Given the description of an element on the screen output the (x, y) to click on. 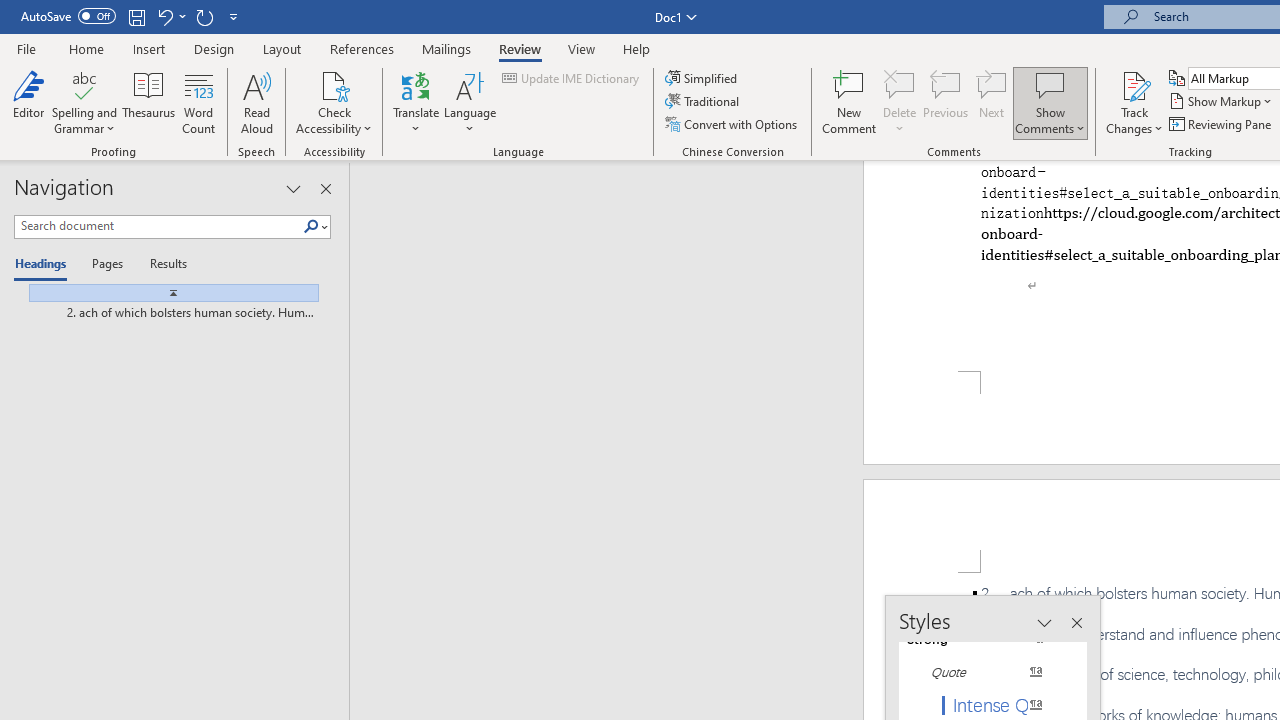
Convert with Options... (732, 124)
Headings (45, 264)
Save (136, 15)
System (10, 11)
System (10, 11)
Translate (415, 102)
Reviewing Pane (1221, 124)
Read Aloud (256, 102)
Show Comments (1050, 84)
AutoSave (68, 16)
Editor (28, 102)
Review (520, 48)
Search (315, 227)
